Given the description of an element on the screen output the (x, y) to click on. 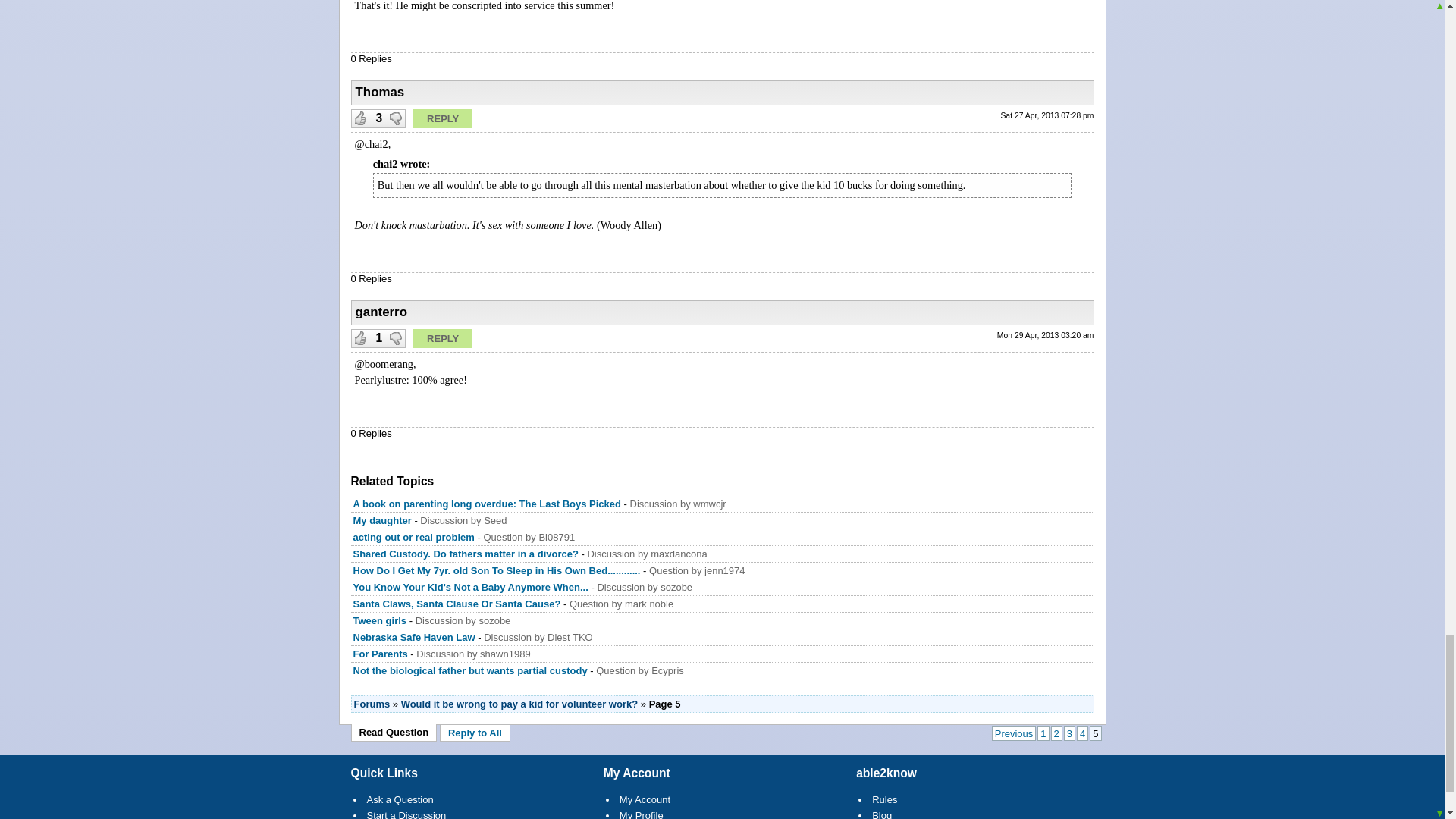
acting out or real problem (413, 536)
You Know Your Kid's Not a Baby Anymore When... (470, 586)
My daughter (382, 520)
For Parents (380, 654)
Nebraska Safe Haven Law (414, 636)
A book on parenting long overdue: The Last Boys Picked (487, 503)
Tween girls (380, 620)
Santa Claws, Santa Clause Or Santa Cause? (456, 603)
Shared Custody. Do fathers matter in a divorce? (465, 553)
